Given the description of an element on the screen output the (x, y) to click on. 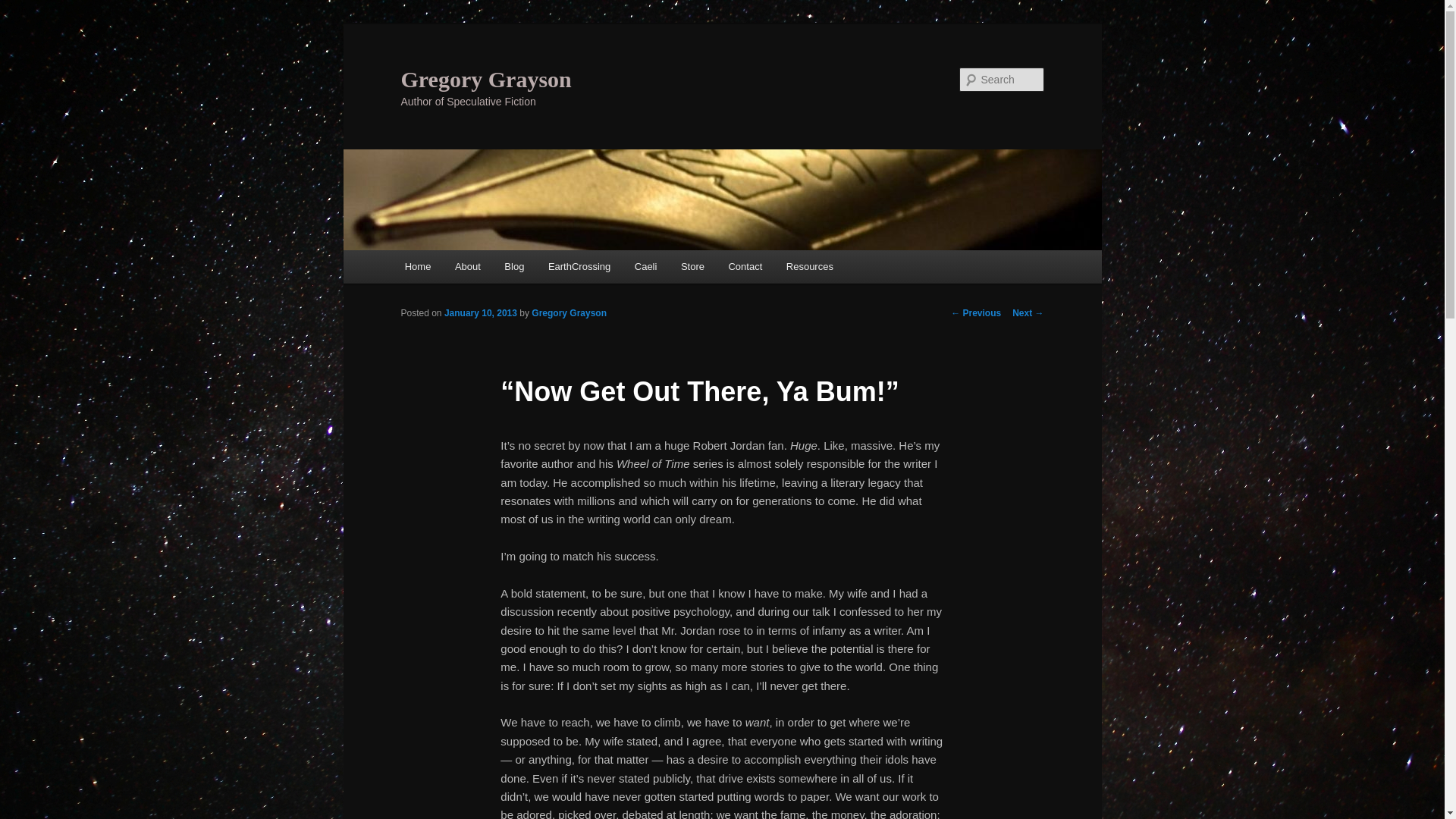
Skip to primary content (472, 269)
Search (24, 8)
Skip to secondary content (479, 269)
Caeli (645, 266)
Resources (809, 266)
Home (417, 266)
Blog (515, 266)
Gregory Grayson (569, 312)
View all posts by Gregory Grayson (569, 312)
Skip to primary content (472, 269)
January 10, 2013 (480, 312)
Gregory Grayson (485, 78)
Skip to secondary content (479, 269)
About (467, 266)
4:17 pm (480, 312)
